Given the description of an element on the screen output the (x, y) to click on. 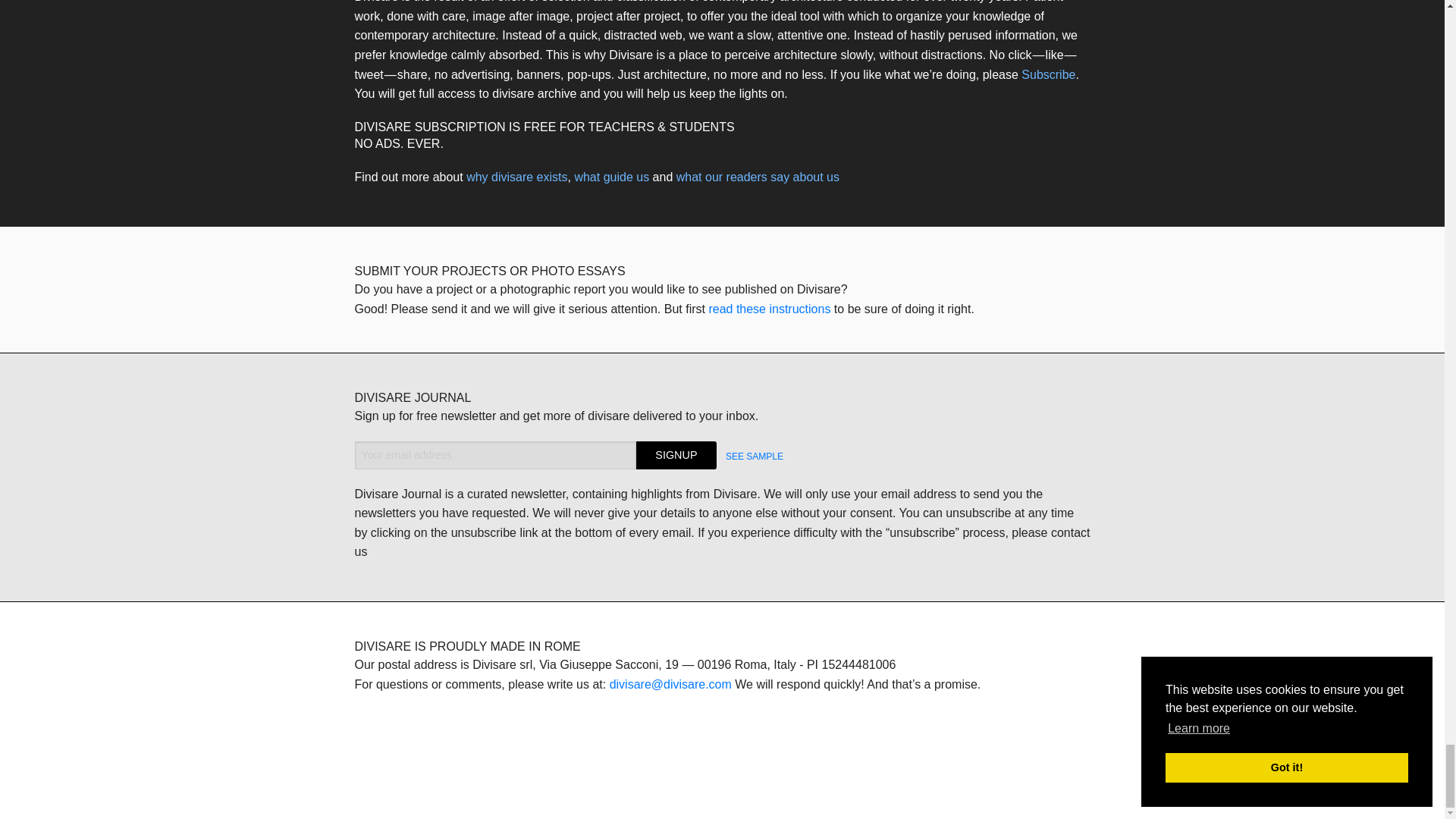
Signup (676, 455)
